Given the description of an element on the screen output the (x, y) to click on. 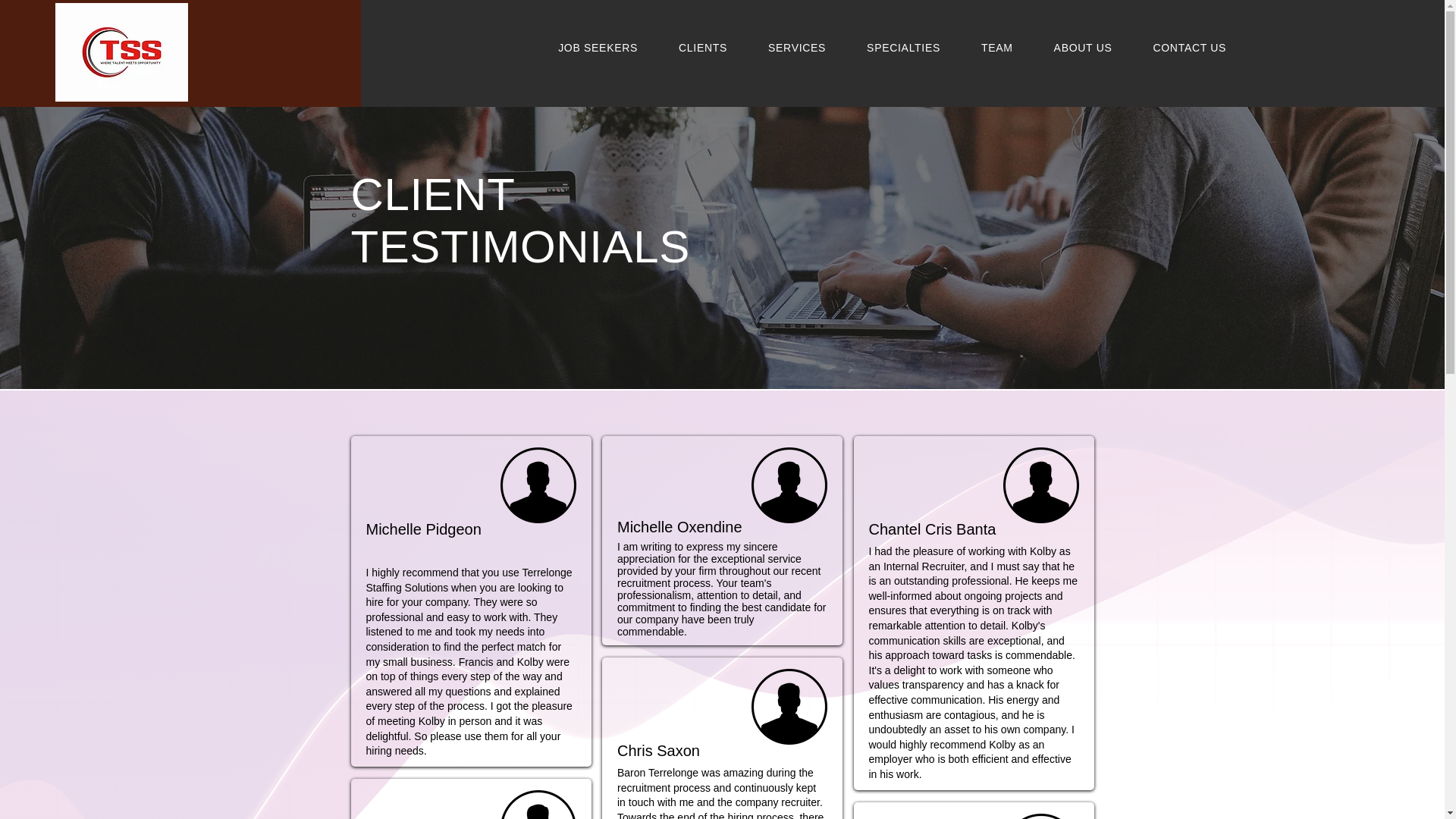
Chris Saxon (658, 750)
CONTACT US (1198, 47)
Chantel Cris Banta (932, 528)
Michelle Oxendine (679, 526)
SERVICES (806, 47)
TEAM (1007, 47)
Michelle Pidgeon (422, 528)
ABOUT US (1093, 47)
